Given the description of an element on the screen output the (x, y) to click on. 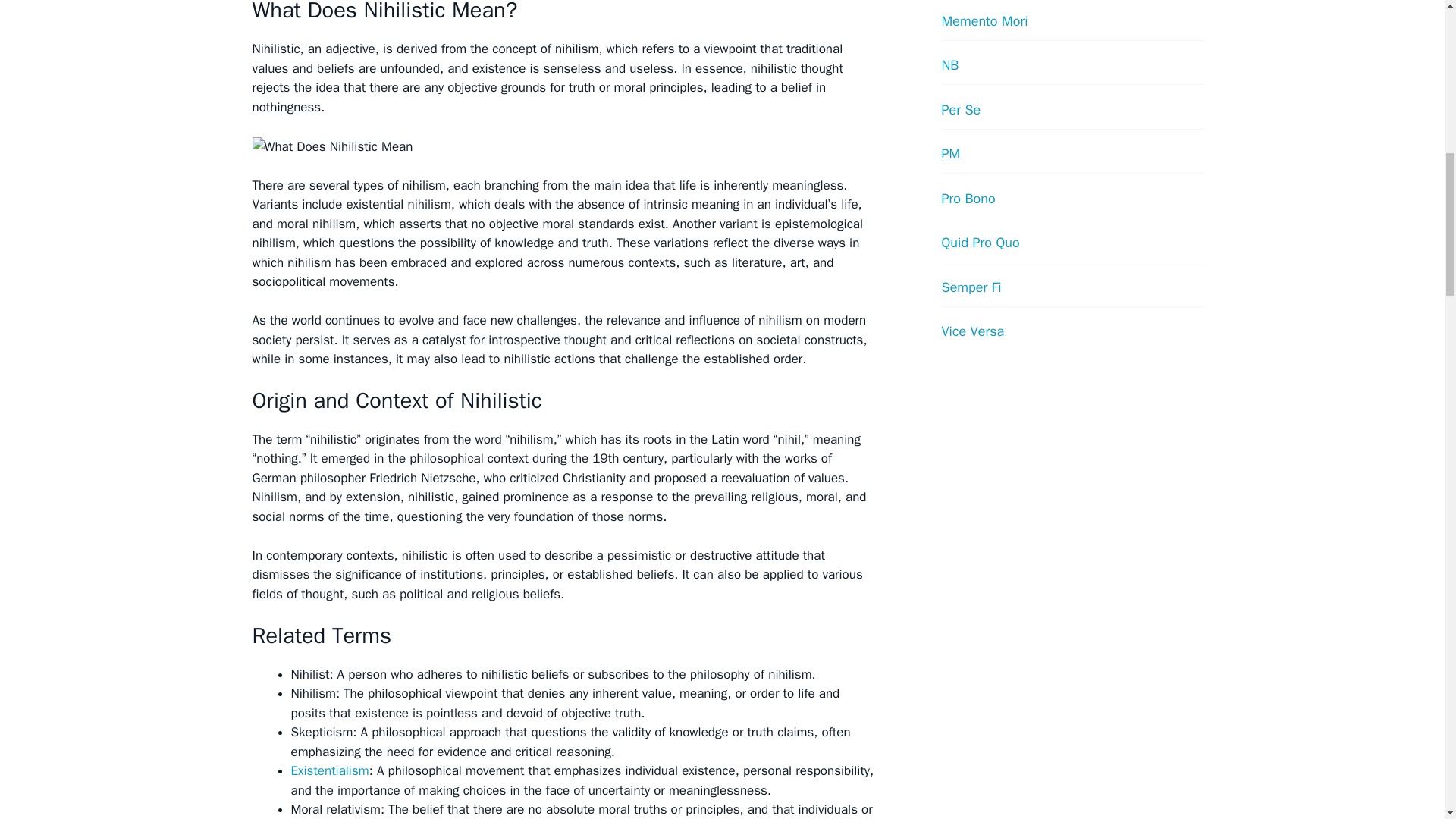
Existentialism (330, 770)
Scroll back to top (1406, 720)
Nihilistic Meaning: What Does the Term "Nihilistic" Mean? 1 (331, 145)
